Given the description of an element on the screen output the (x, y) to click on. 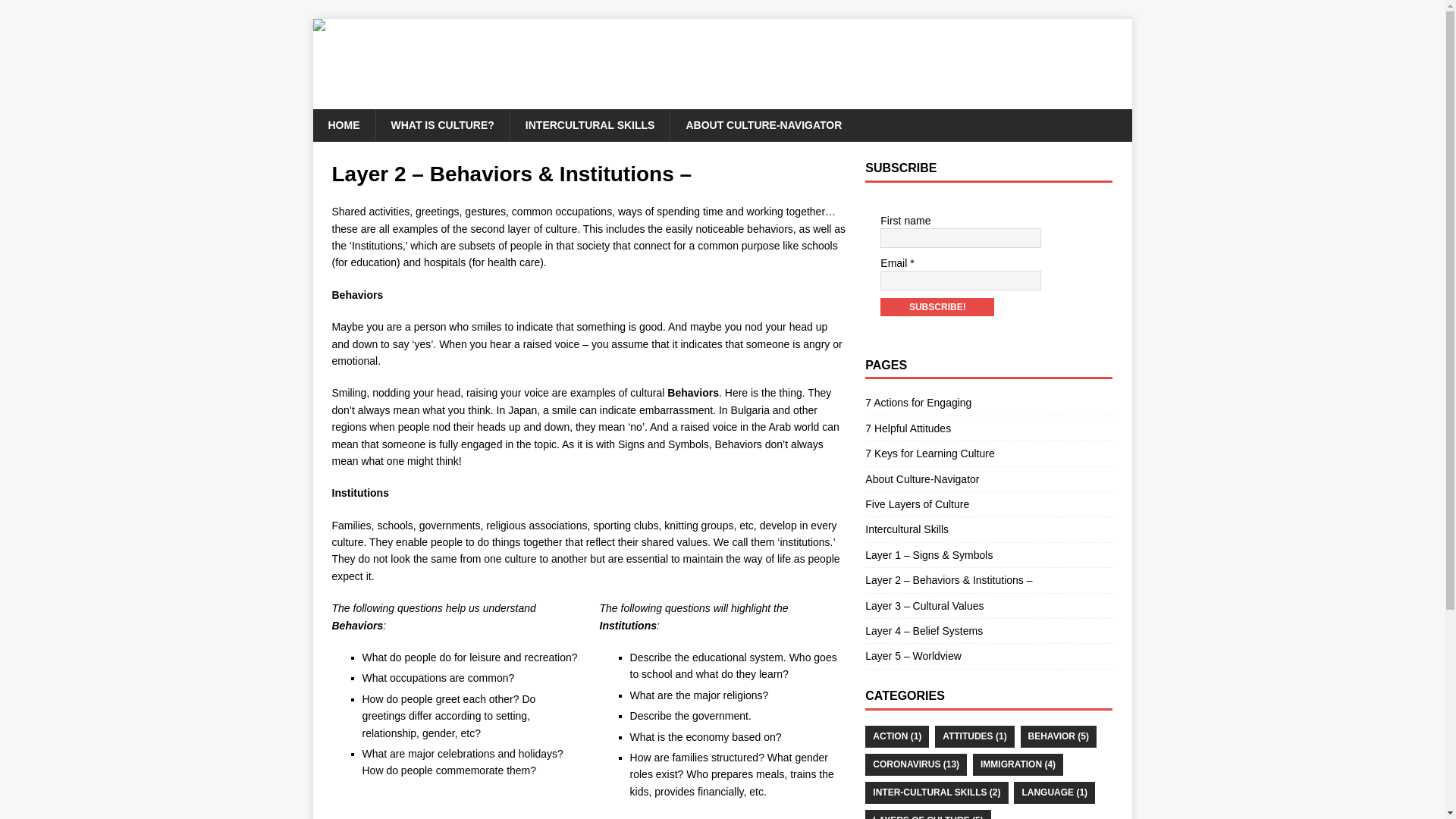
7 Helpful Attitudes (988, 428)
INTERCULTURAL SKILLS (589, 124)
First name (960, 238)
Intercultural Skills (988, 529)
Culture-Navigator (722, 101)
WHAT IS CULTURE? (441, 124)
About Culture-Navigator (988, 479)
Search (56, 11)
HOME (343, 124)
Subscribe! (937, 307)
